Given the description of an element on the screen output the (x, y) to click on. 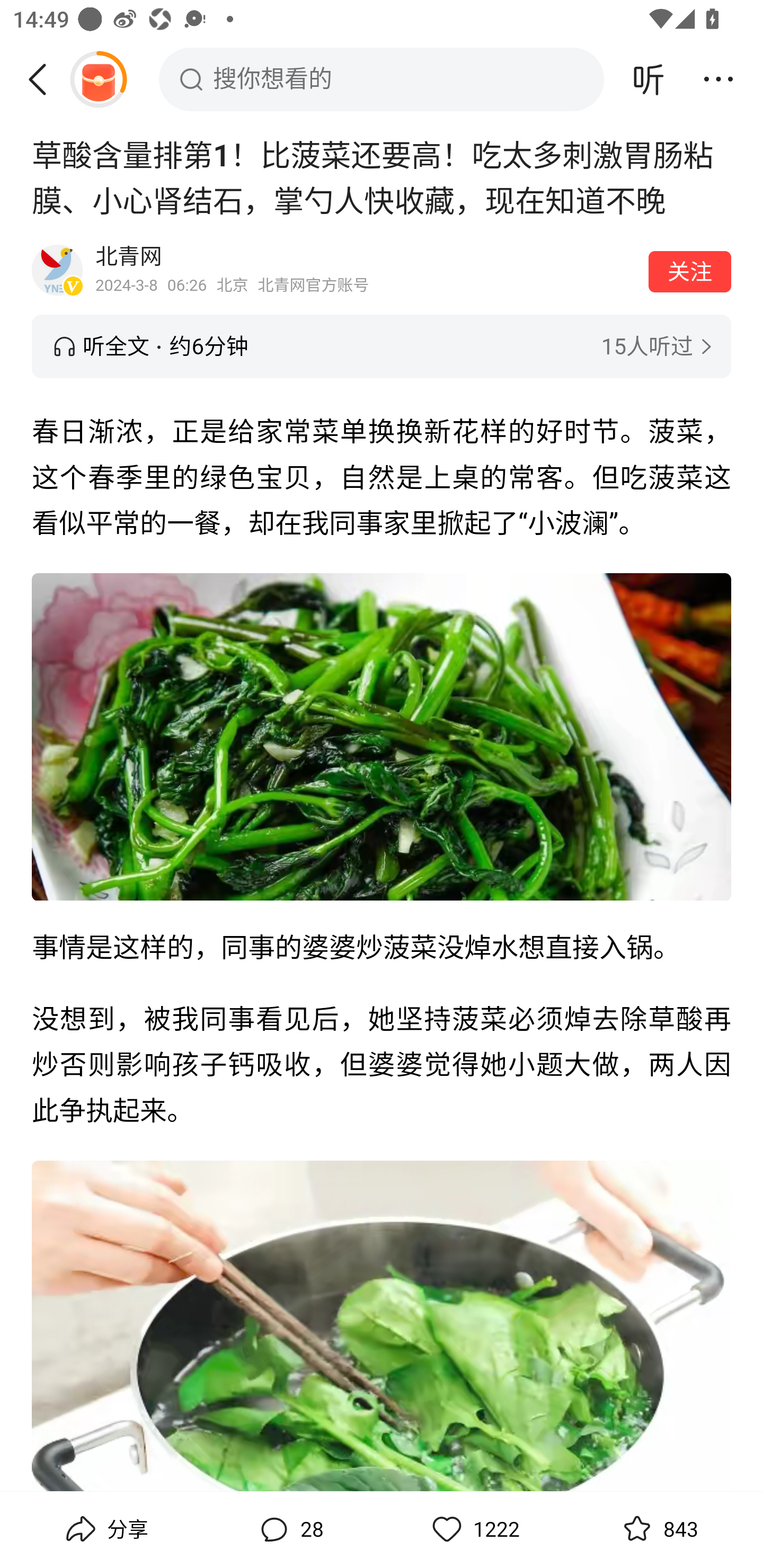
返回 (44, 78)
听头条 (648, 78)
更多操作 (718, 78)
搜你想看的 搜索框，搜你想看的 (381, 79)
阅读赚金币 (98, 79)
作者：北青网，简介：北青网官方账号，2024-3-8 06:26发布，北京 (365, 270)
关注作者 (689, 270)
听全文 约6分钟 15人听过 (381, 346)
分享 (104, 1529)
评论,28 28 (288, 1529)
收藏,843 843 (658, 1529)
